Given the description of an element on the screen output the (x, y) to click on. 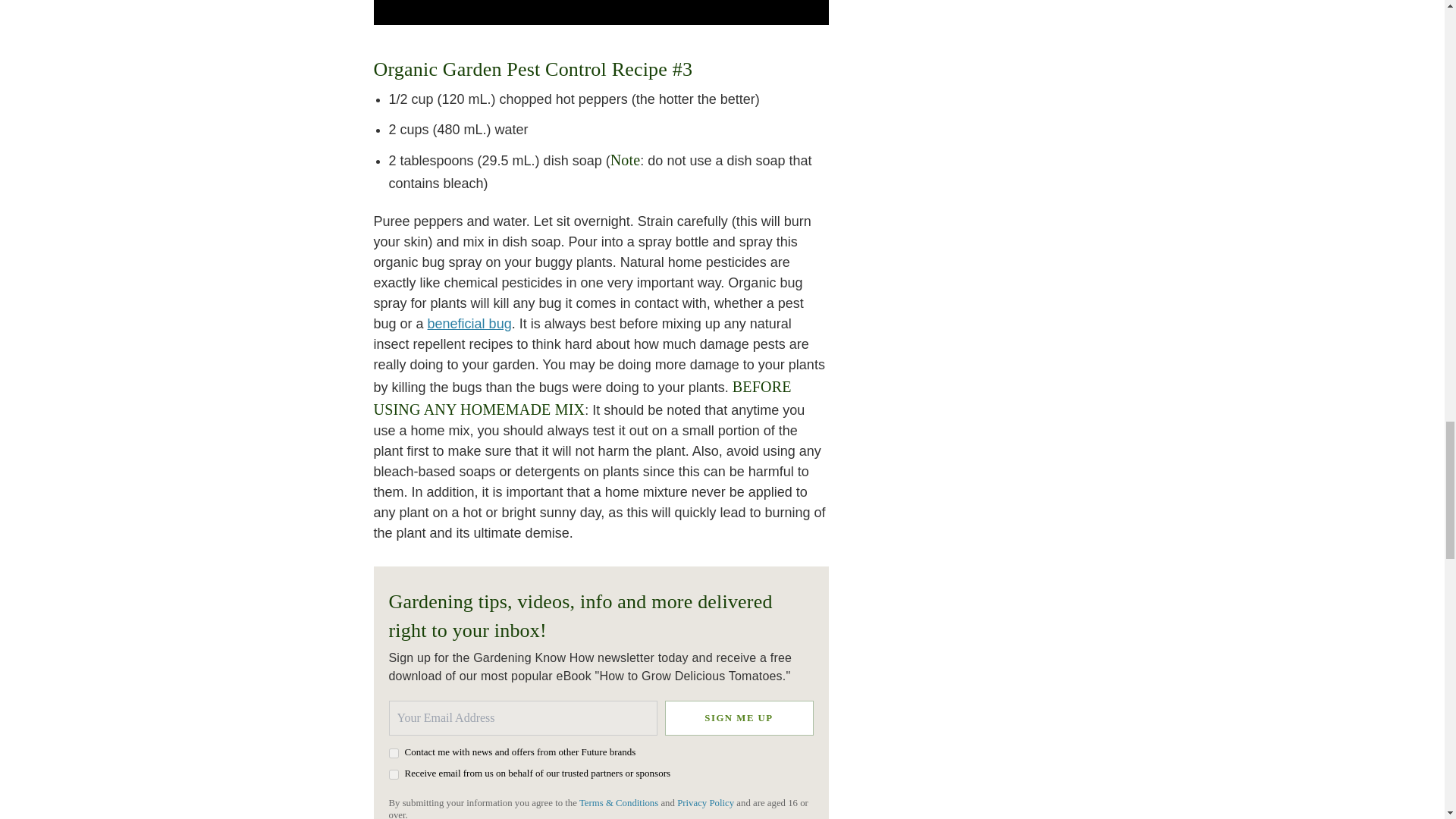
Sign me up (737, 718)
on (392, 753)
on (392, 774)
